Given the description of an element on the screen output the (x, y) to click on. 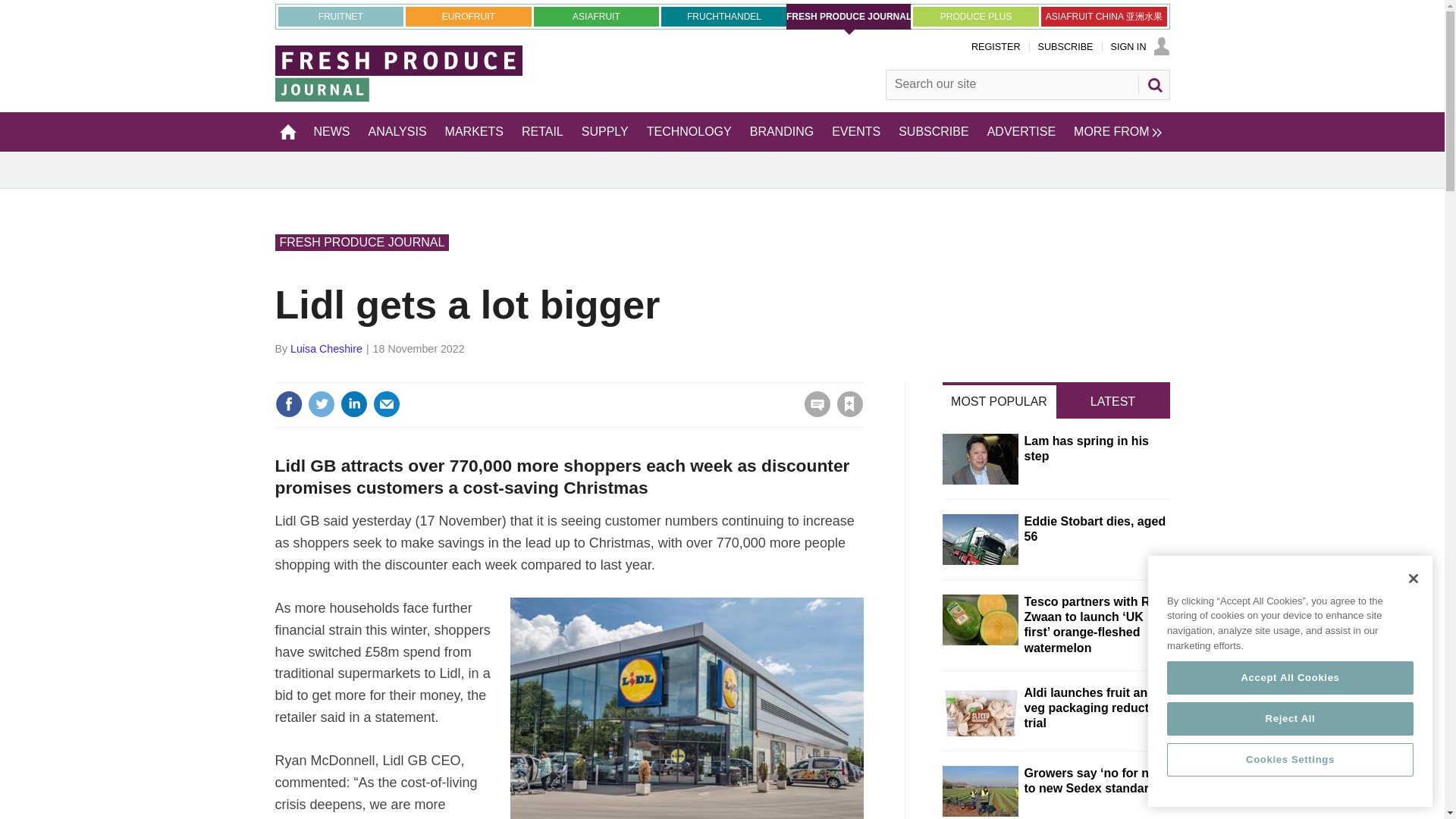
ANALYSIS (397, 131)
ASIAFRUIT (596, 16)
EUROFRUIT (468, 16)
FRESH PRODUCE JOURNAL (849, 16)
Share this on Linked in (352, 403)
Share this on Facebook (288, 403)
Email this article (386, 403)
NEWS (331, 131)
FRUITNET (340, 16)
PRODUCE PLUS (975, 16)
